Given the description of an element on the screen output the (x, y) to click on. 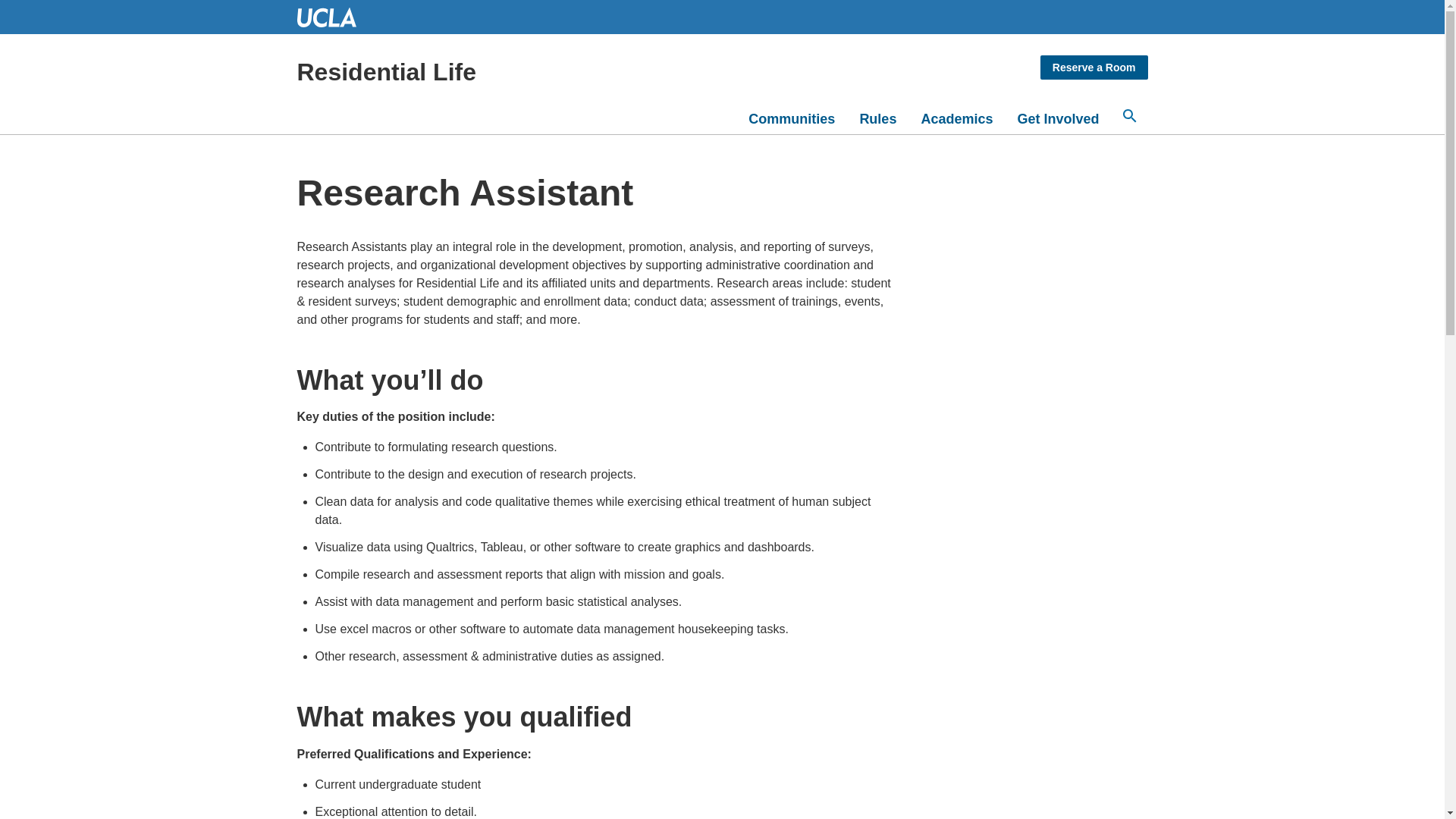
Academics (956, 119)
Reserve a Room (1094, 67)
Residential Life (527, 71)
Rules (877, 119)
Get Involved (1057, 119)
Communities (791, 119)
UCLA (333, 17)
